Given the description of an element on the screen output the (x, y) to click on. 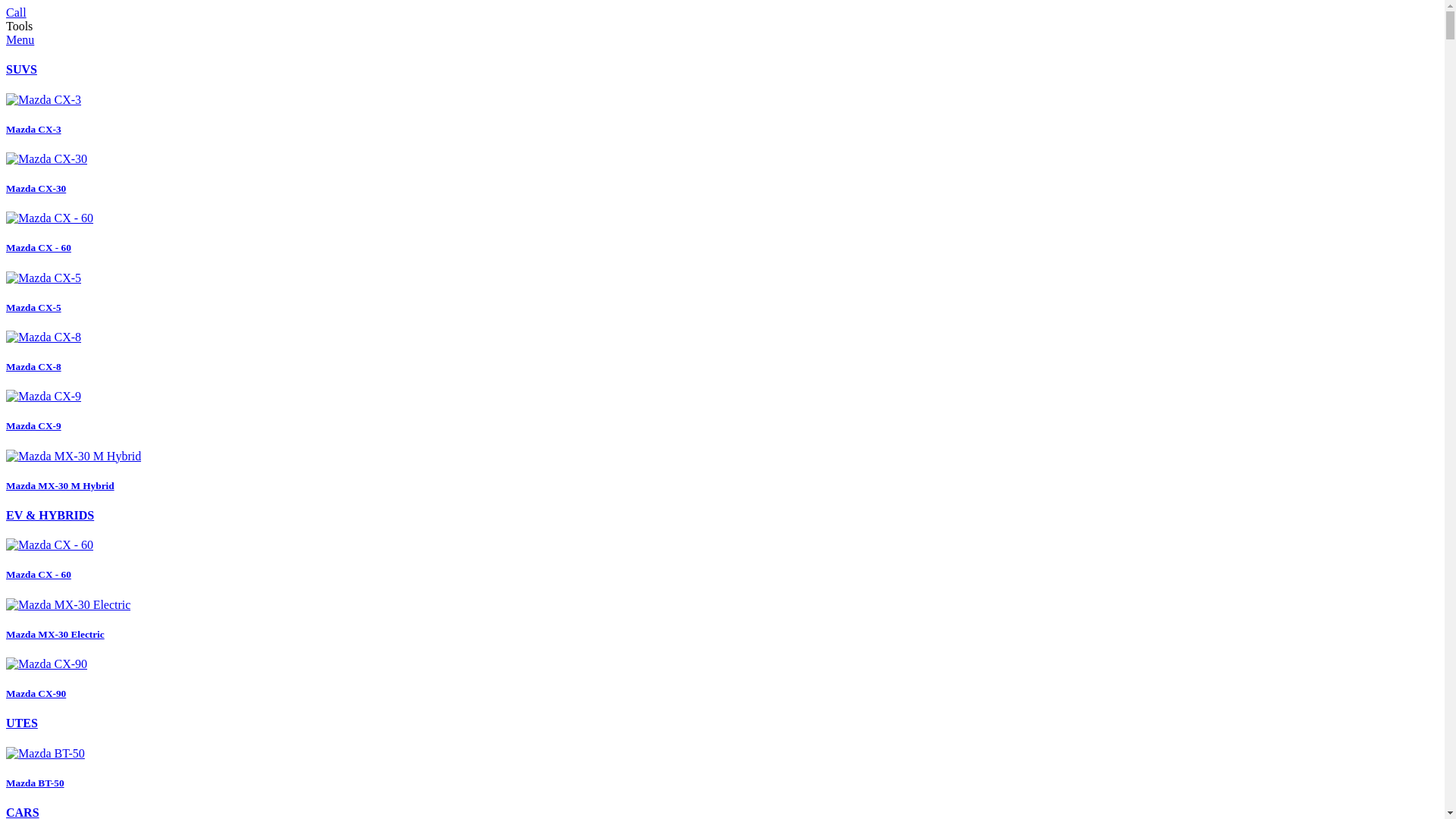
Call Element type: text (16, 12)
Mazda CX - 60 Element type: text (722, 559)
Mazda CX-8 Element type: text (722, 351)
Mazda CX - 60 Element type: text (722, 232)
Menu Element type: text (20, 39)
Mazda MX-30 M Hybrid Element type: text (722, 470)
Mazda CX-5 Element type: text (722, 292)
Tools Element type: text (19, 25)
Mazda CX-90 Element type: text (722, 678)
EV & HYBRIDS Element type: text (50, 514)
Mazda CX-30 Element type: text (722, 173)
Mazda CX-3 Element type: text (722, 114)
Mazda MX-30 Electric Element type: text (722, 619)
UTES Element type: text (21, 722)
SUVS Element type: text (21, 68)
Mazda BT-50 Element type: text (722, 767)
Mazda CX-9 Element type: text (722, 410)
